Given the description of an element on the screen output the (x, y) to click on. 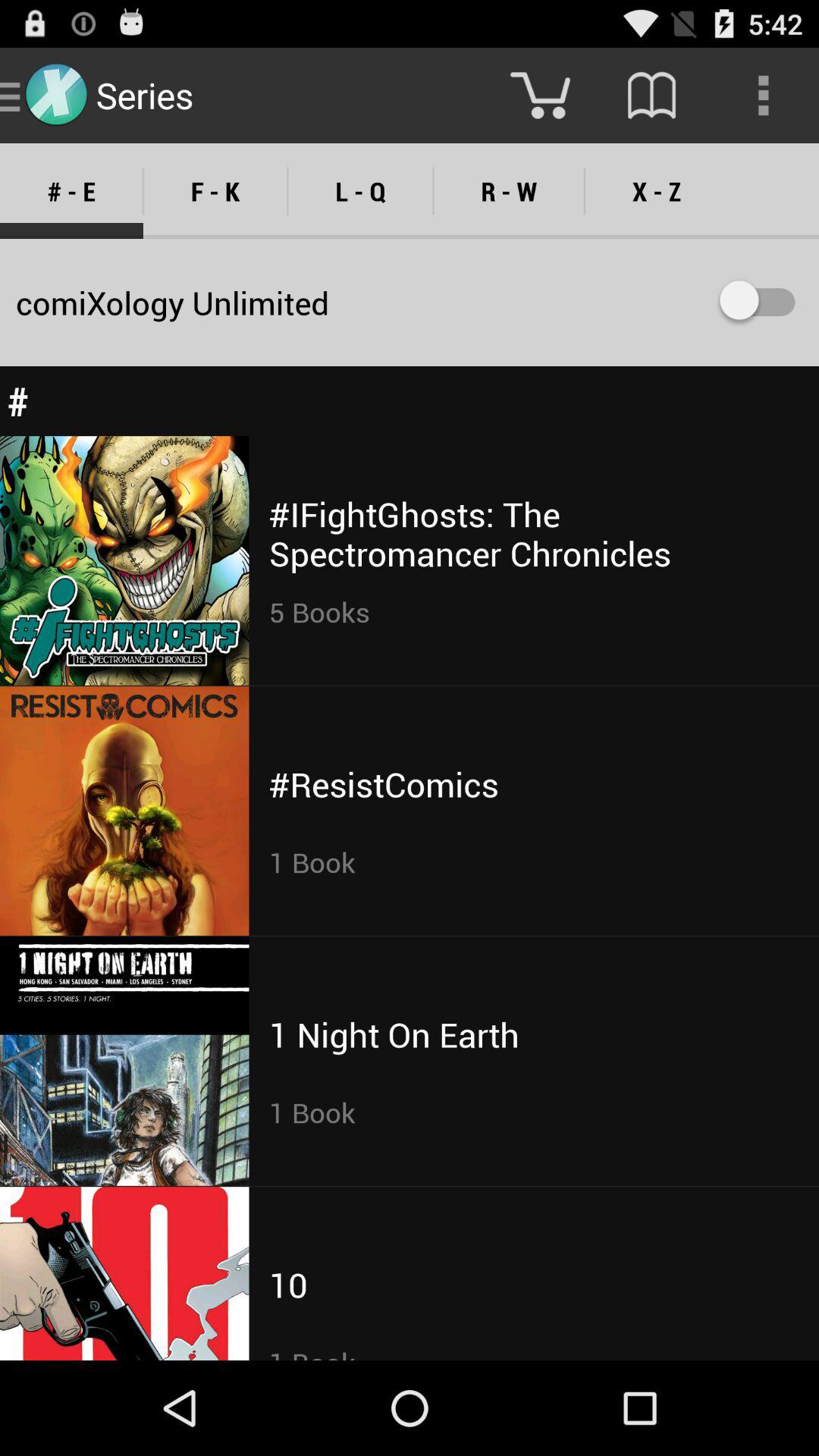
launch #resistcomics item (383, 784)
